Given the description of an element on the screen output the (x, y) to click on. 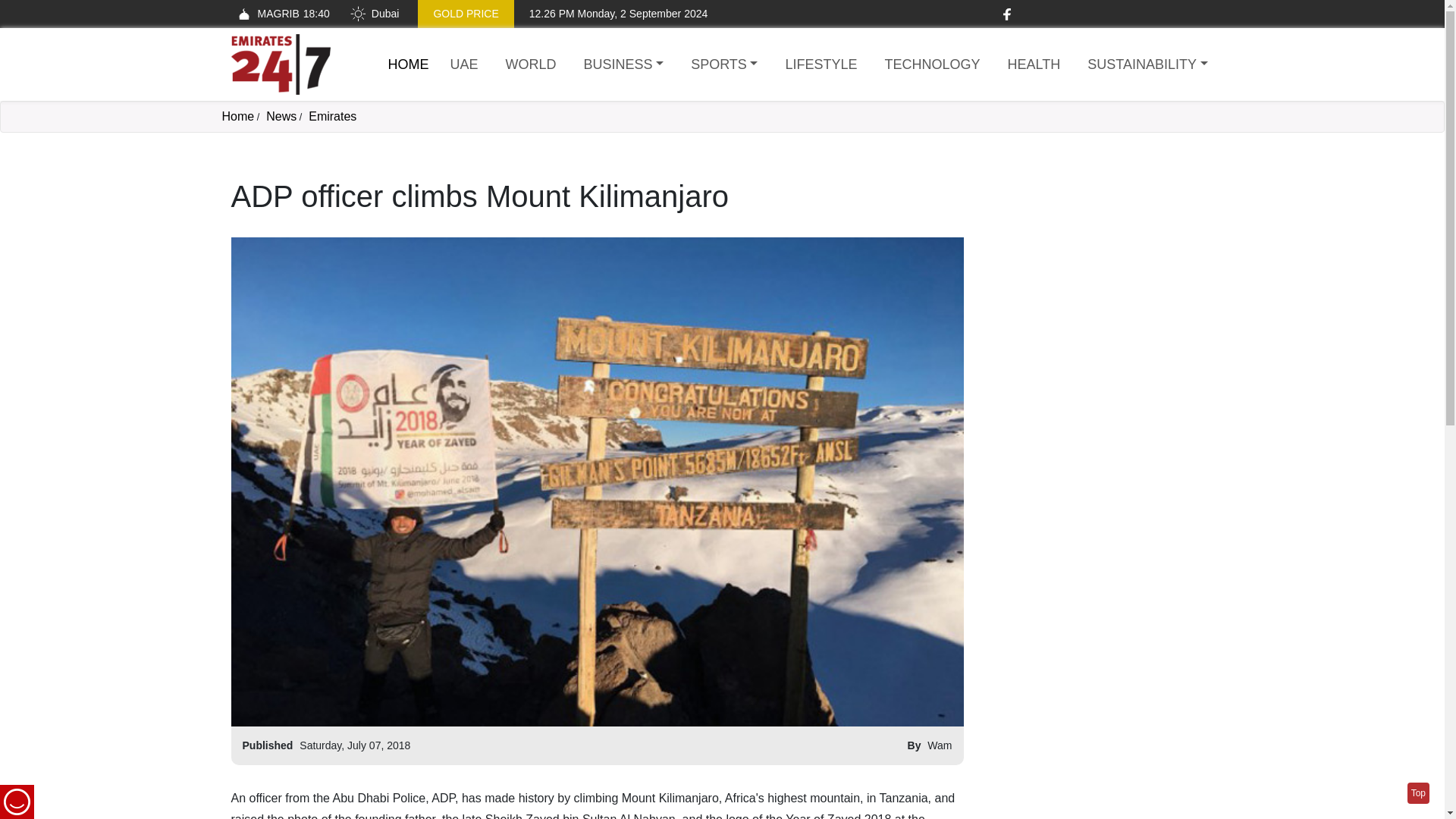
SUSTAINABILITY (279, 13)
HOME (1146, 64)
Home (408, 63)
UAE (408, 63)
Go to top (464, 64)
BUSINESS (1418, 792)
TECHNOLOGY (623, 64)
HEALTH (931, 64)
LIFESTYLE (1034, 64)
